Given the description of an element on the screen output the (x, y) to click on. 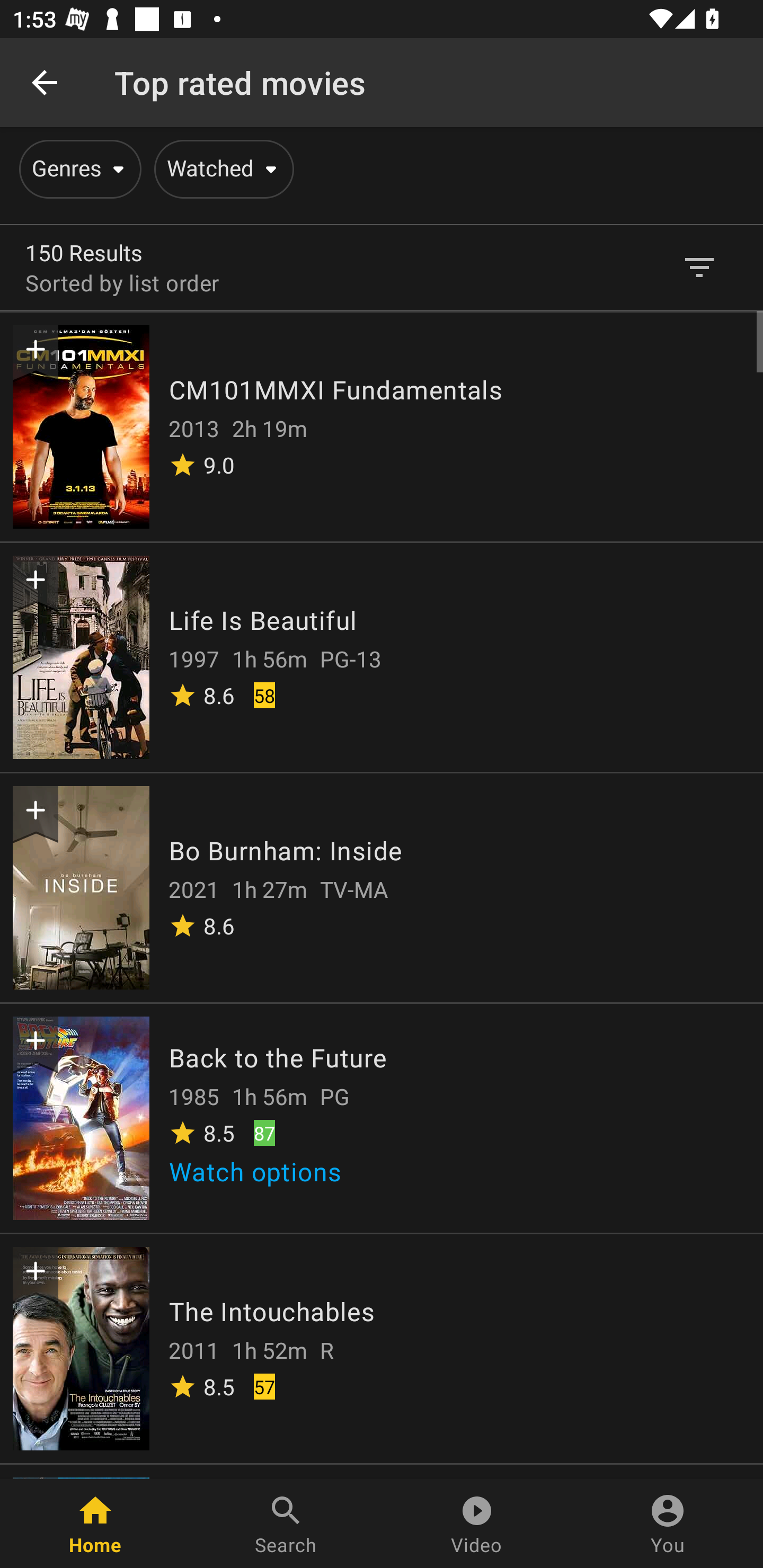
Genres (77, 169)
Watched (220, 169)
CM101MMXI Fundamentals 2013 2h 19m 9.0 (381, 425)
Life Is Beautiful 1997 1h 56m PG-13 8.6 58 (381, 655)
Bo Burnham: Inside 2021 1h 27m TV-MA 8.6 (381, 886)
Watch options (261, 1177)
The Intouchables 2011 1h 52m R 8.5 57 (381, 1347)
Search (285, 1523)
Video (476, 1523)
You (667, 1523)
